Given the description of an element on the screen output the (x, y) to click on. 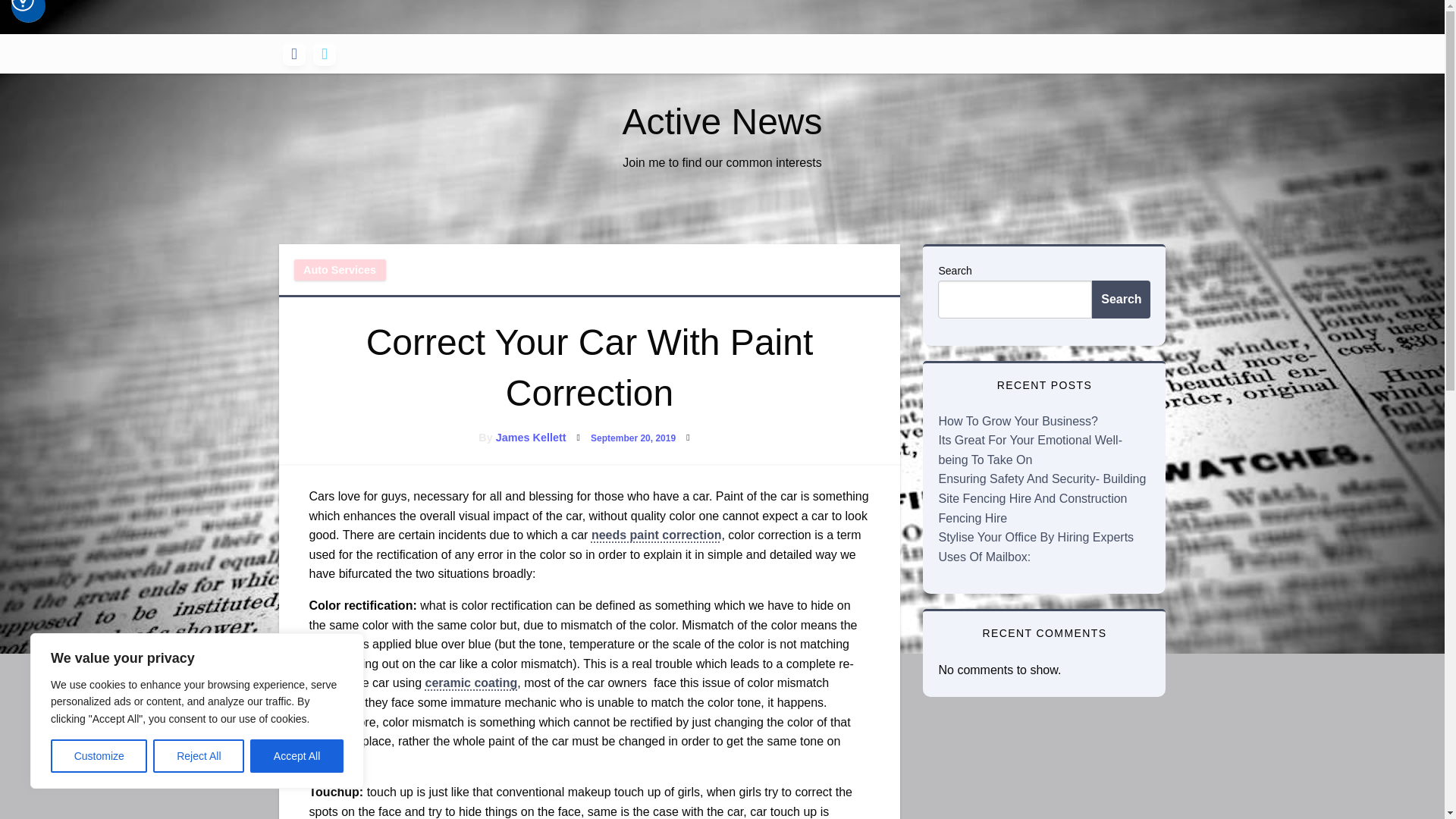
How To Grow Your Business? (1017, 420)
needs paint correction (656, 534)
James Kellett (531, 437)
James Kellett (531, 437)
Accept All (296, 756)
Reject All (198, 756)
Auto Services (339, 269)
Its Great For Your Emotional Well-being To Take On (1029, 450)
Search (1121, 299)
